Given the description of an element on the screen output the (x, y) to click on. 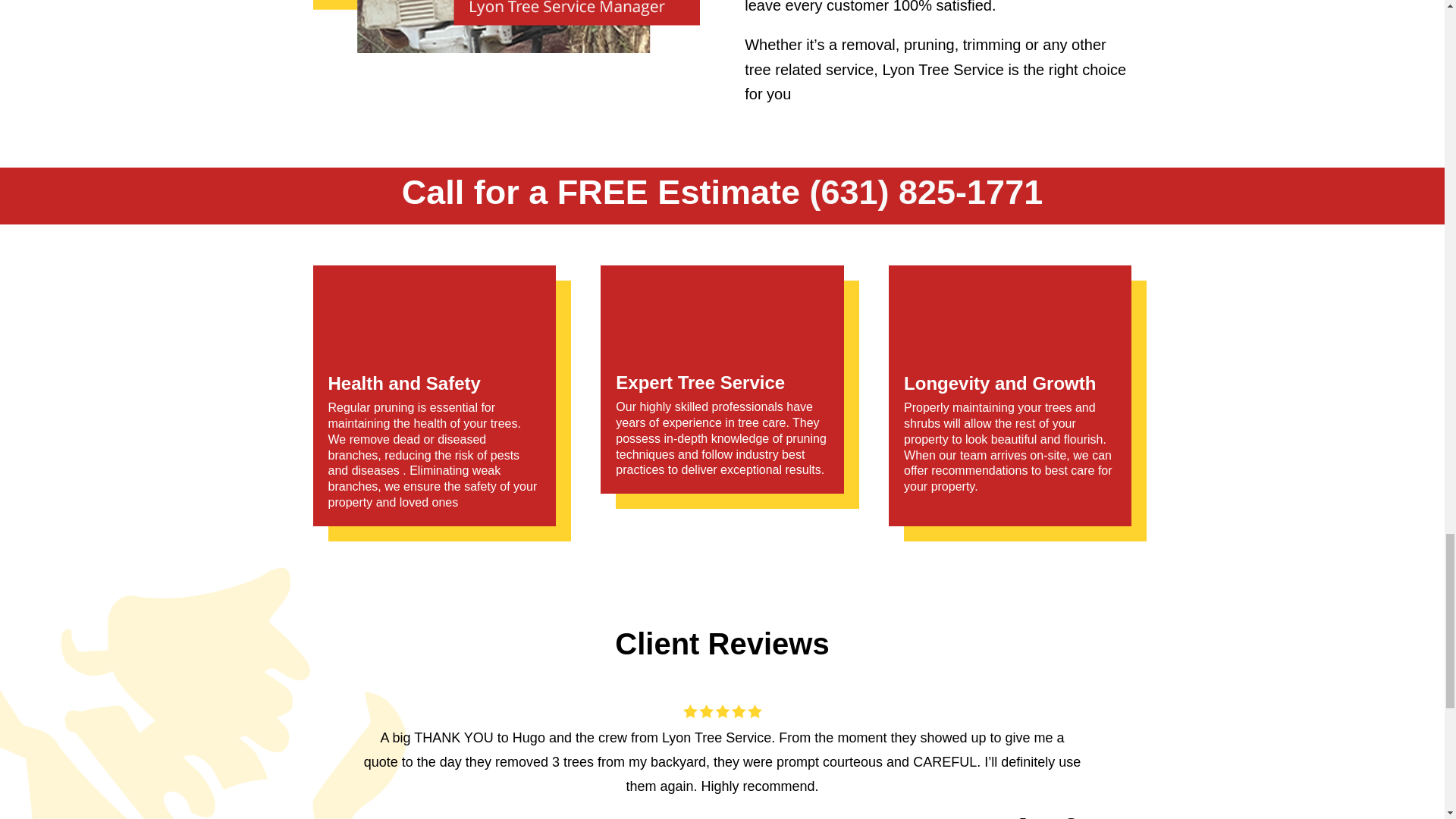
Hugo (506, 27)
